Given the description of an element on the screen output the (x, y) to click on. 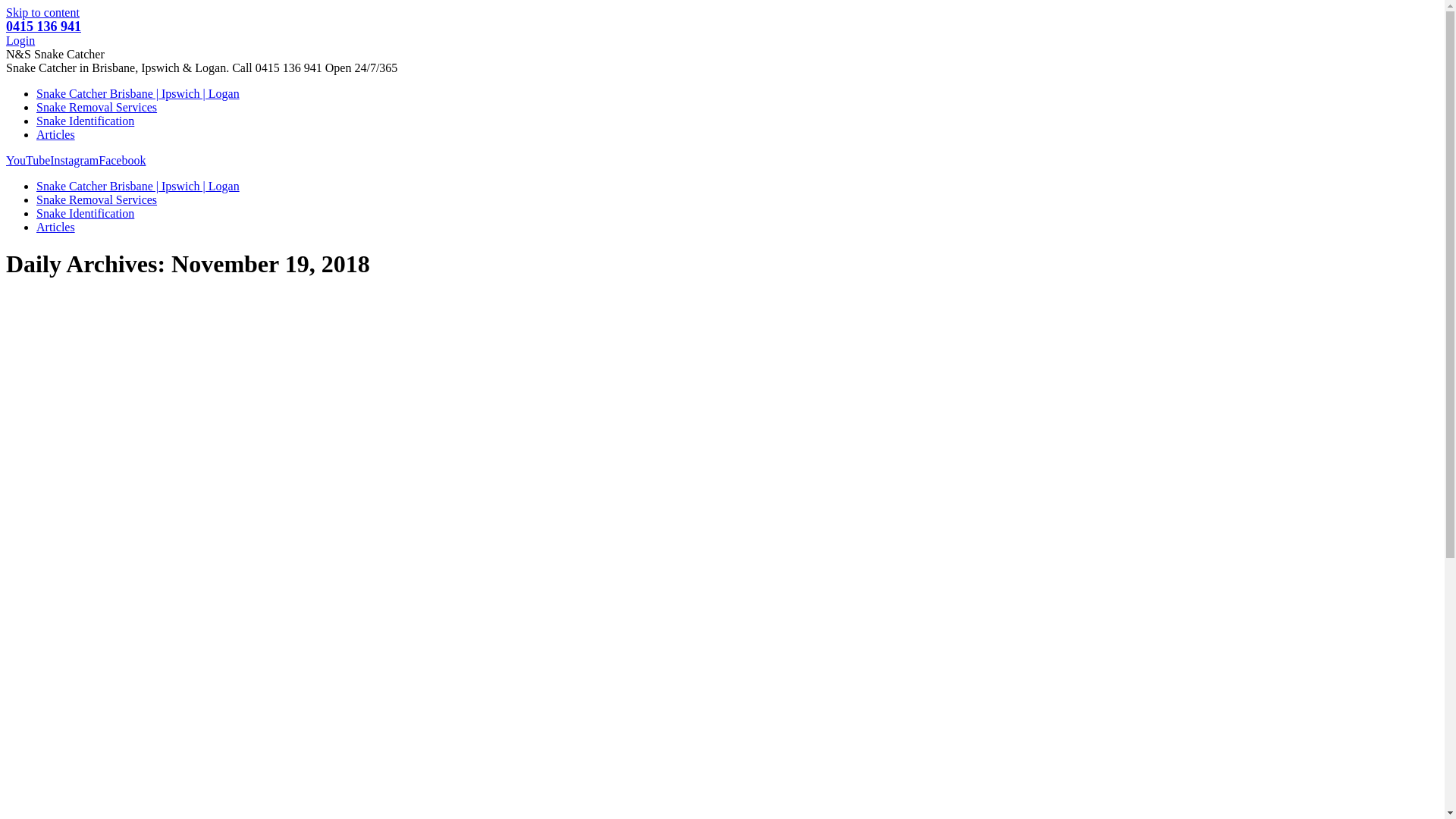
Facebook Element type: text (121, 159)
Instagram Element type: text (74, 159)
Articles Element type: text (55, 134)
Snake Identification Element type: text (85, 120)
YouTube Element type: text (28, 159)
Skip to content Element type: text (42, 12)
Snake Catcher Brisbane | Ipswich | Logan Element type: text (137, 185)
0415 136 941 Element type: text (43, 26)
Login Element type: text (20, 40)
Snake Removal Services Element type: text (96, 106)
Snake Catcher Brisbane | Ipswich | Logan Element type: text (137, 93)
Snake Removal Services Element type: text (96, 199)
Articles Element type: text (55, 226)
Snake Identification Element type: text (85, 213)
